Given the description of an element on the screen output the (x, y) to click on. 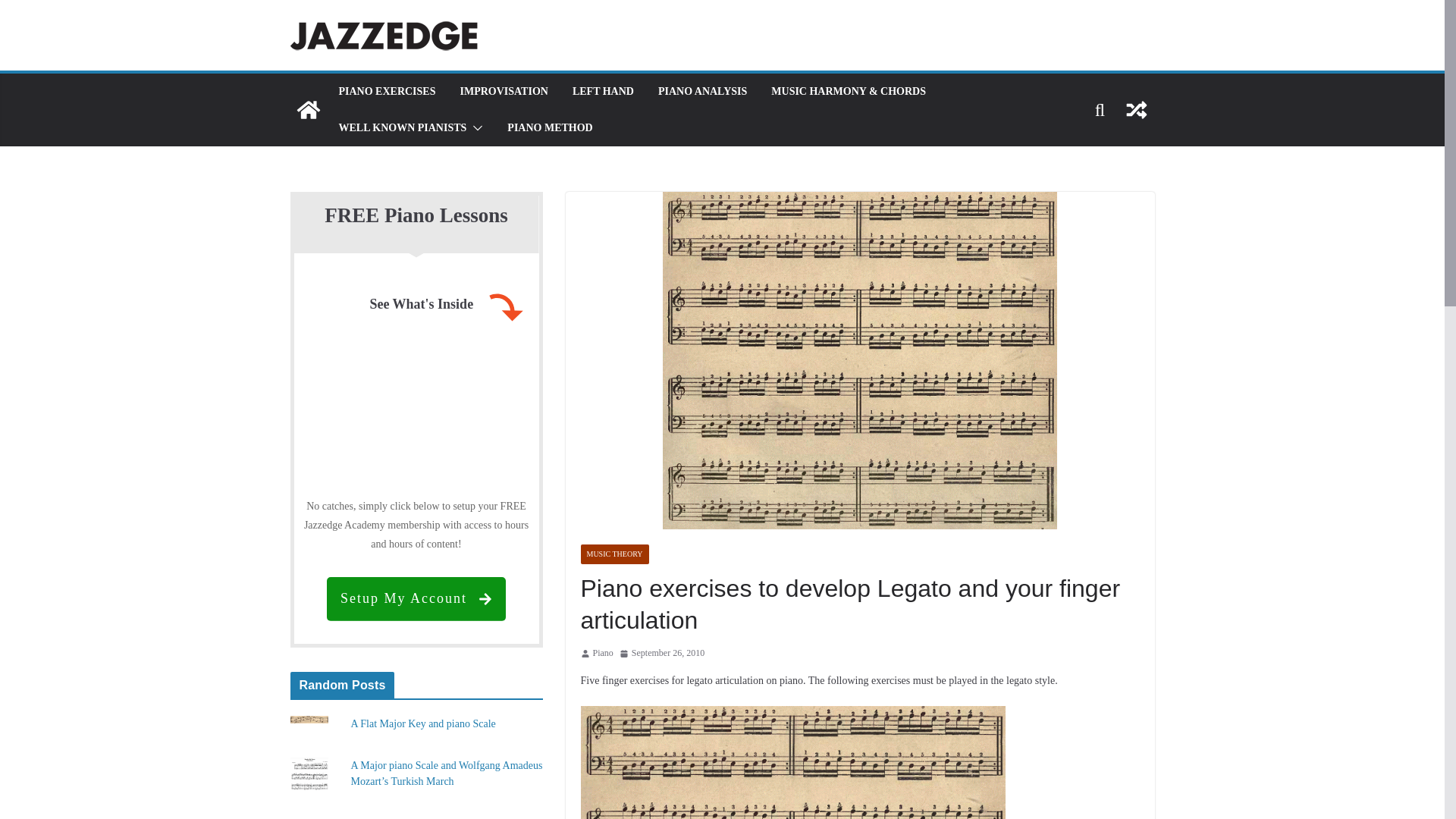
September 26, 2010 (662, 653)
PIANO ANALYSIS (702, 91)
Piano (602, 653)
Piano (602, 653)
PIANO EXERCISES (386, 91)
Setup My Account (415, 598)
PIANO METHOD (549, 127)
A Flat Major Key and piano Scale (422, 723)
View a random post (1136, 109)
MUSIC THEORY (614, 554)
WELL KNOWN PIANISTS (401, 127)
legato finger articulation (793, 762)
9:00 am (662, 653)
IMPROVISATION (503, 91)
LEFT HAND (602, 91)
